Given the description of an element on the screen output the (x, y) to click on. 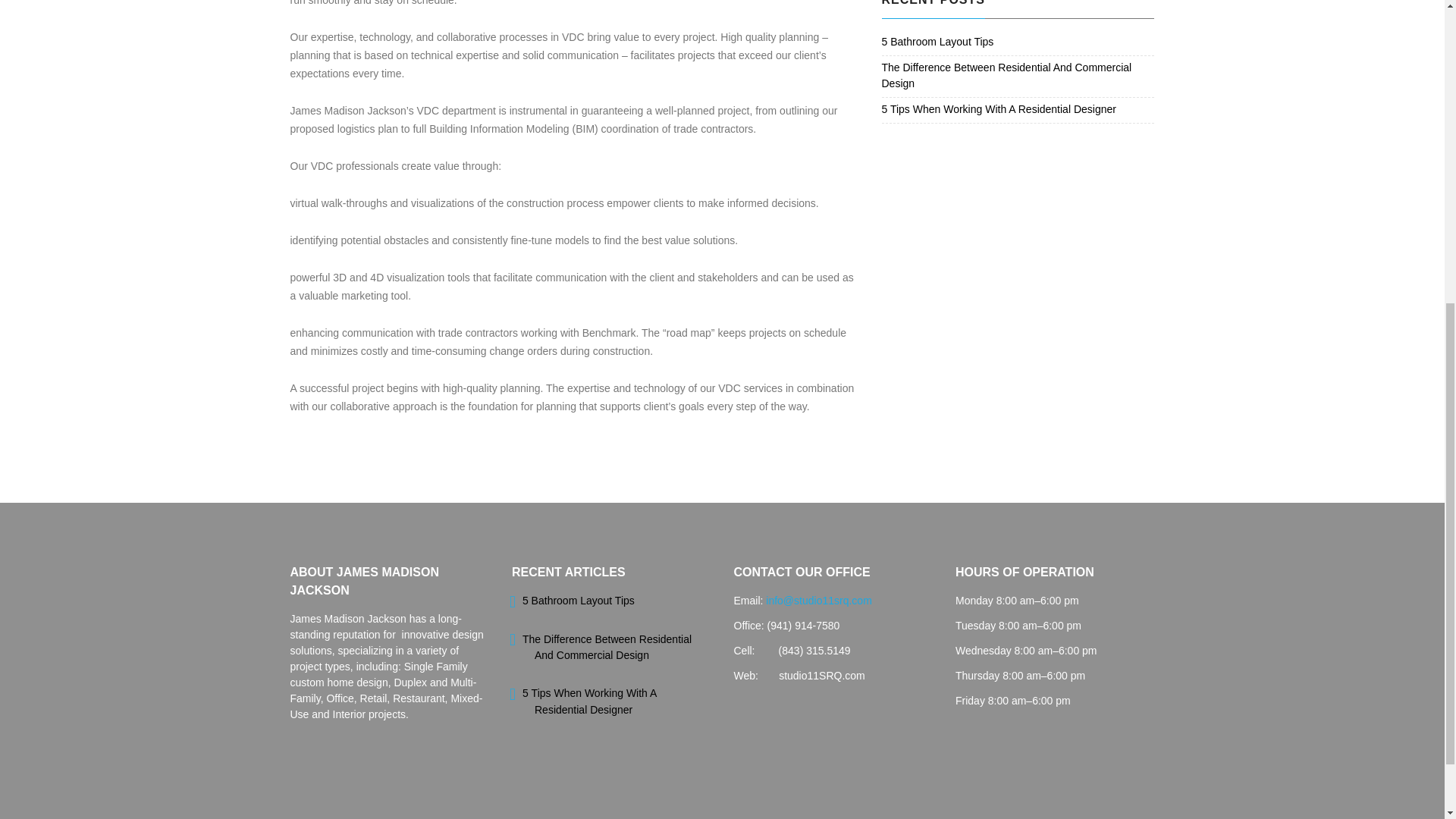
twitter (681, 210)
vimeo (778, 210)
5 Tips When Working With A Residential Designer (997, 109)
google (730, 210)
facebook (665, 210)
5 Tips When Working With A Residential Designer (589, 701)
5 Bathroom Layout Tips (936, 41)
5 Bathroom Layout Tips (578, 600)
dribbble (746, 210)
The Difference Between Residential And Commercial Design (606, 646)
pinterest (762, 210)
The Difference Between Residential And Commercial Design (1005, 75)
linkedin (697, 210)
Submit (704, 117)
instagram (713, 210)
